Given the description of an element on the screen output the (x, y) to click on. 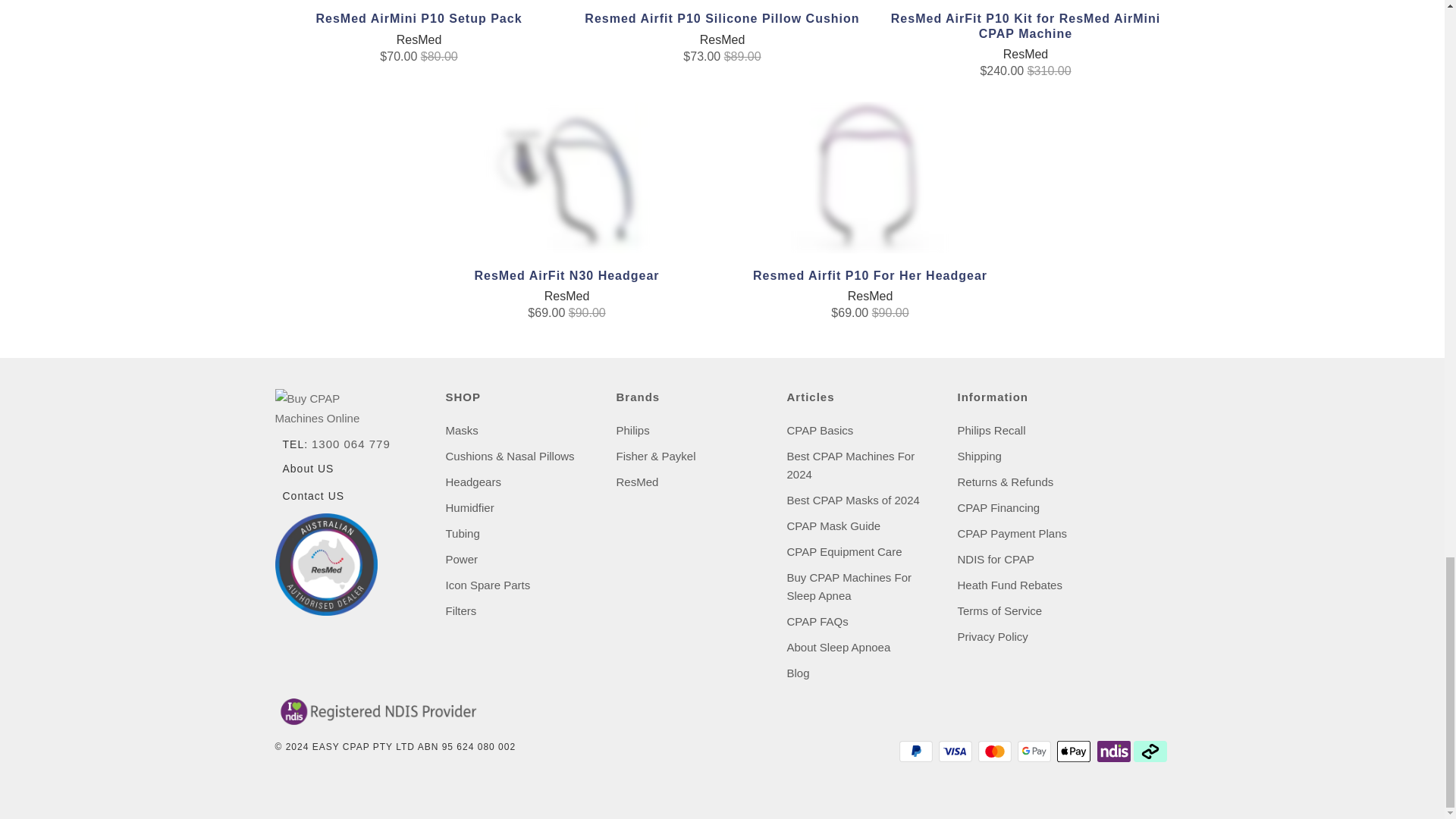
PayPal (917, 751)
Mastercard (996, 751)
Visa (957, 751)
Apple Pay (1075, 751)
Google Pay (1035, 751)
